Given the description of an element on the screen output the (x, y) to click on. 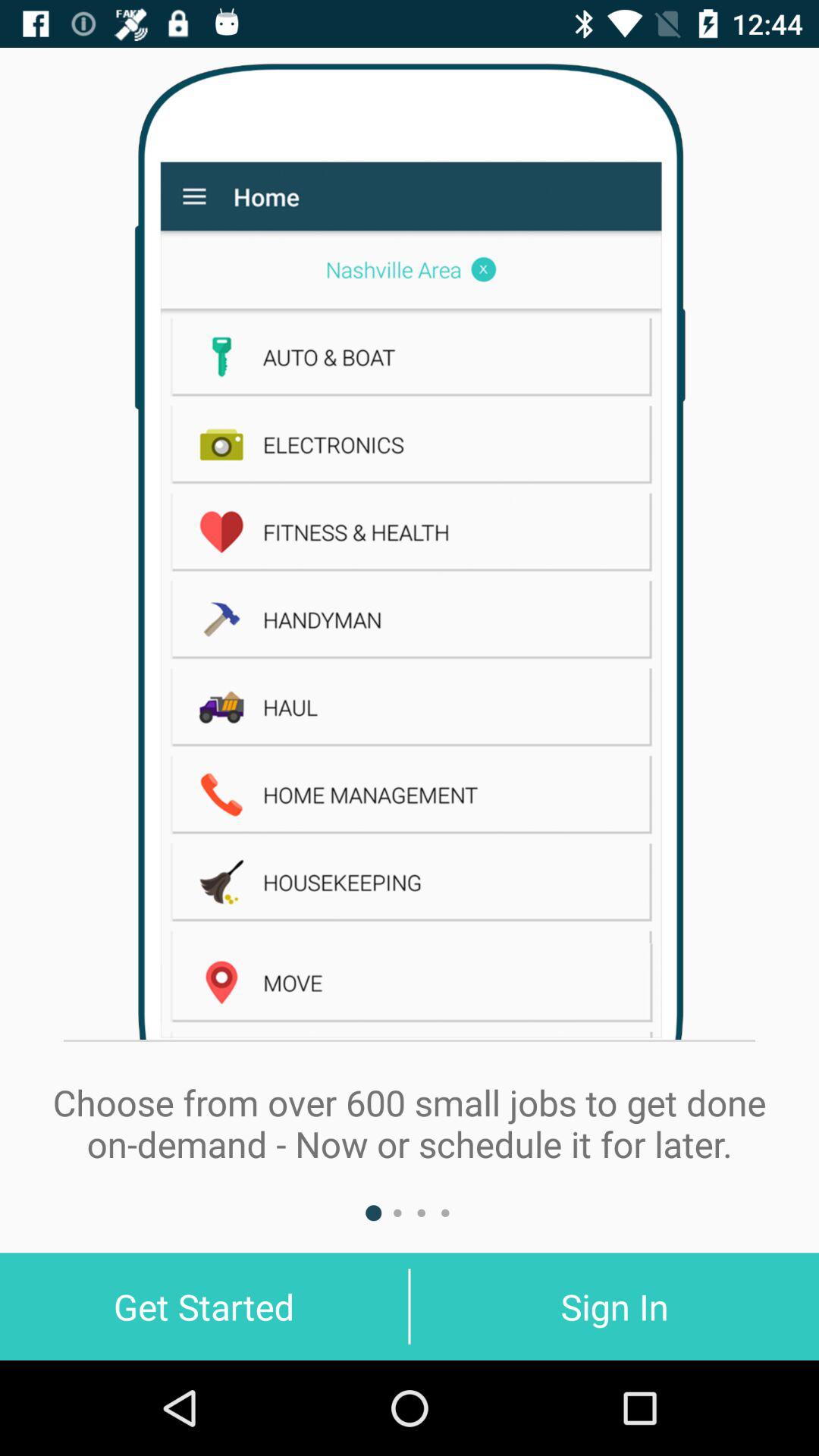
click the get started (204, 1306)
